Given the description of an element on the screen output the (x, y) to click on. 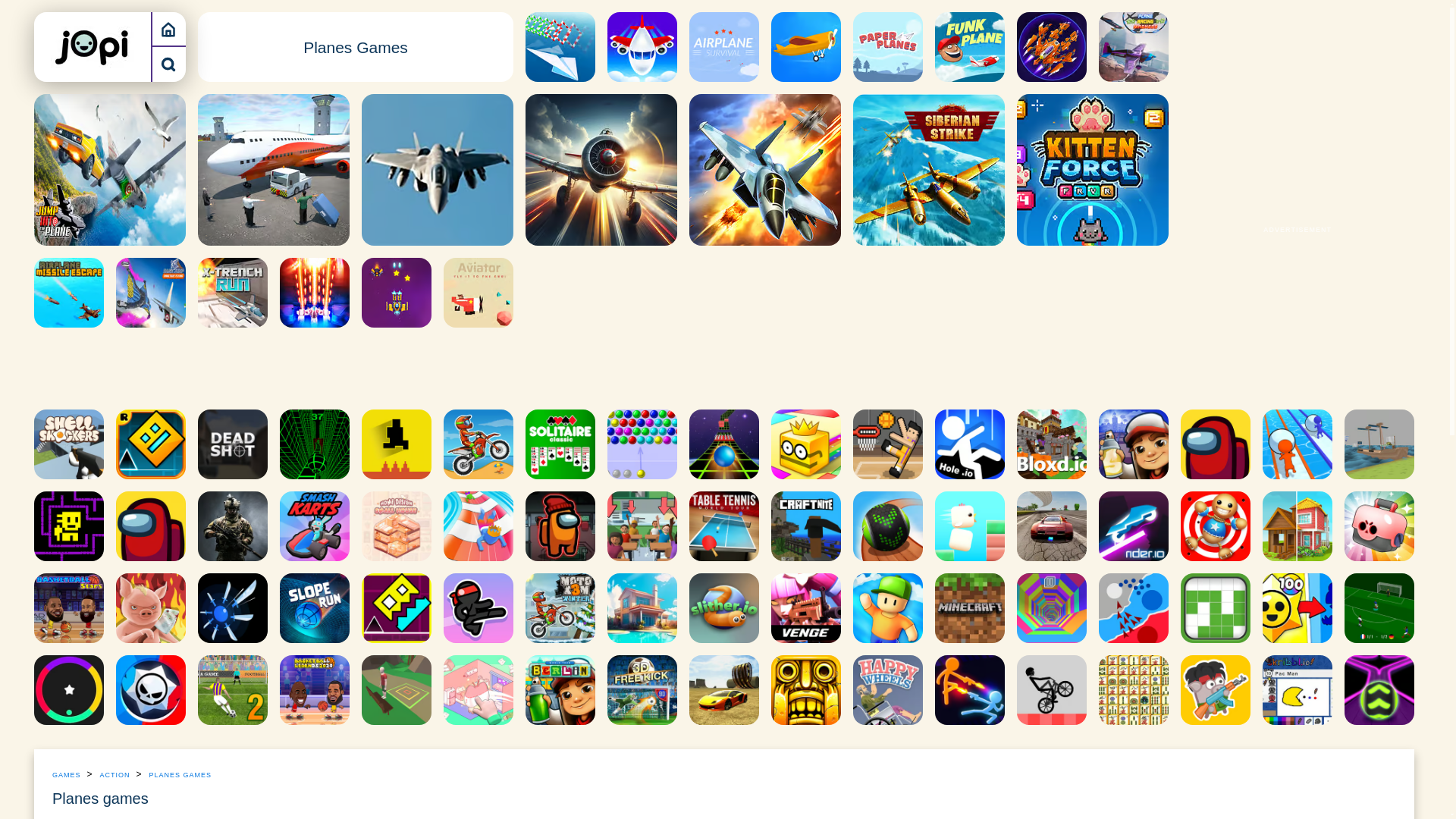
Free Online Games to Play (168, 29)
Search Games (168, 63)
Games (168, 29)
Jopi (91, 46)
Search (168, 63)
